Given the description of an element on the screen output the (x, y) to click on. 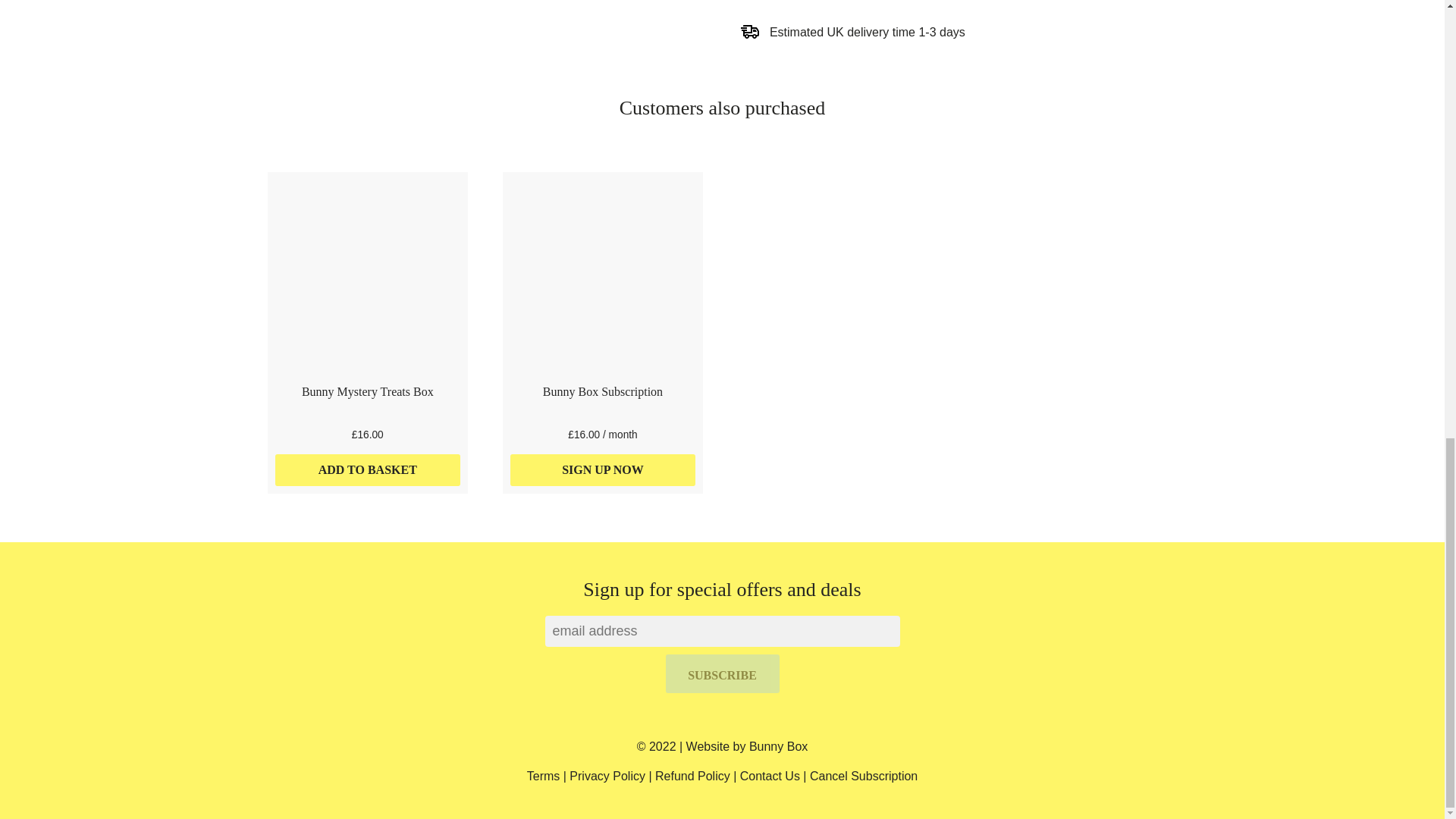
Cancel Subscription (863, 775)
Subscribe (721, 673)
ADD TO BASKET (367, 470)
Contact Us (769, 775)
Refund Policy (692, 775)
Subscribe (721, 673)
Terms (543, 775)
Bunny Box (778, 746)
Privacy Policy (607, 775)
SIGN UP NOW (603, 470)
